Given the description of an element on the screen output the (x, y) to click on. 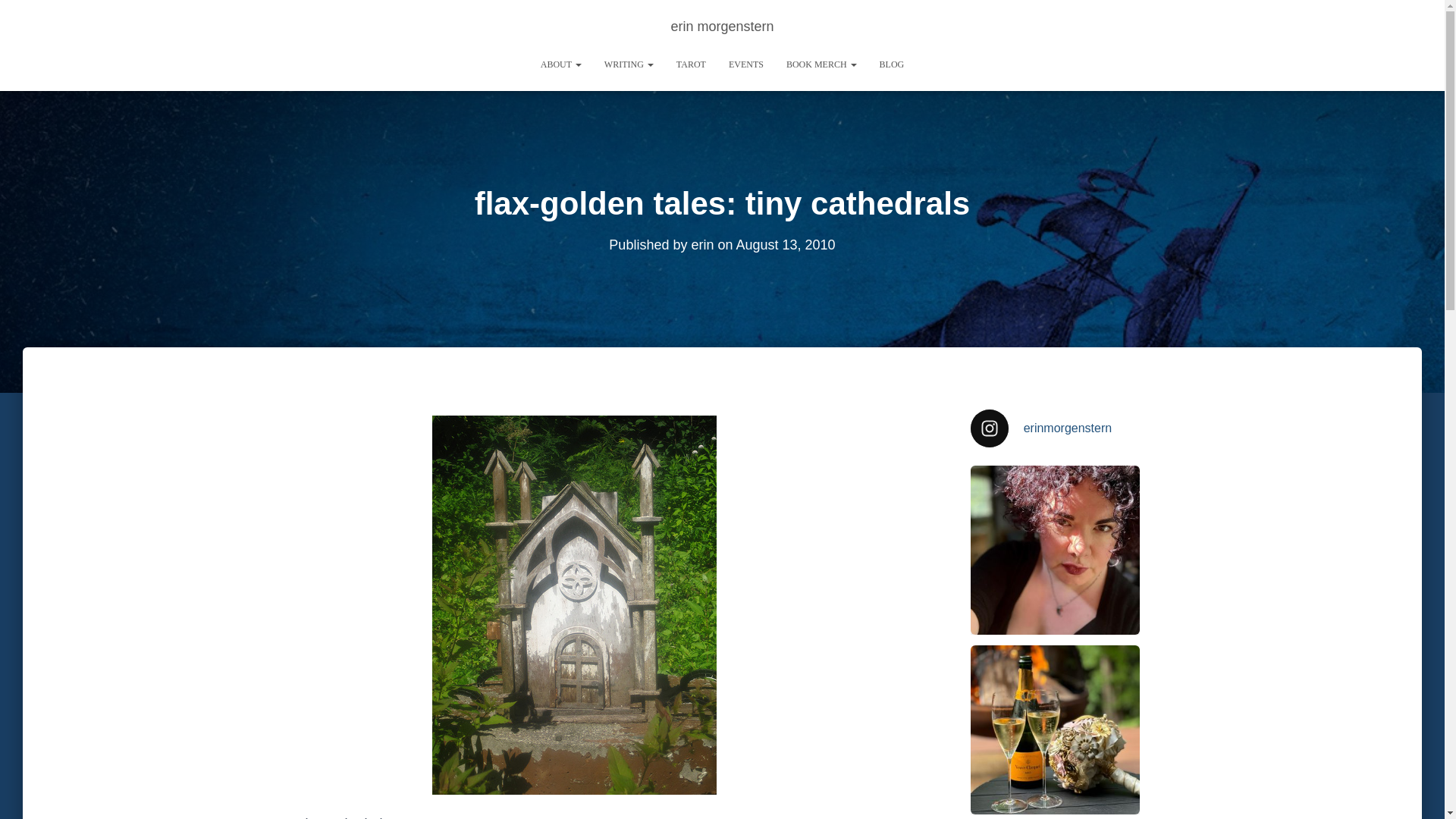
writing (628, 64)
About (560, 64)
book merch (820, 64)
TAROT (691, 64)
erin morgenstern (721, 26)
BOOK MERCH (820, 64)
Events (745, 64)
erin morgenstern (721, 26)
tarot (691, 64)
BLOG (891, 64)
EVENTS (745, 64)
erinmorgenstern (1055, 428)
WRITING (628, 64)
erin (701, 244)
ABOUT (560, 64)
